Given the description of an element on the screen output the (x, y) to click on. 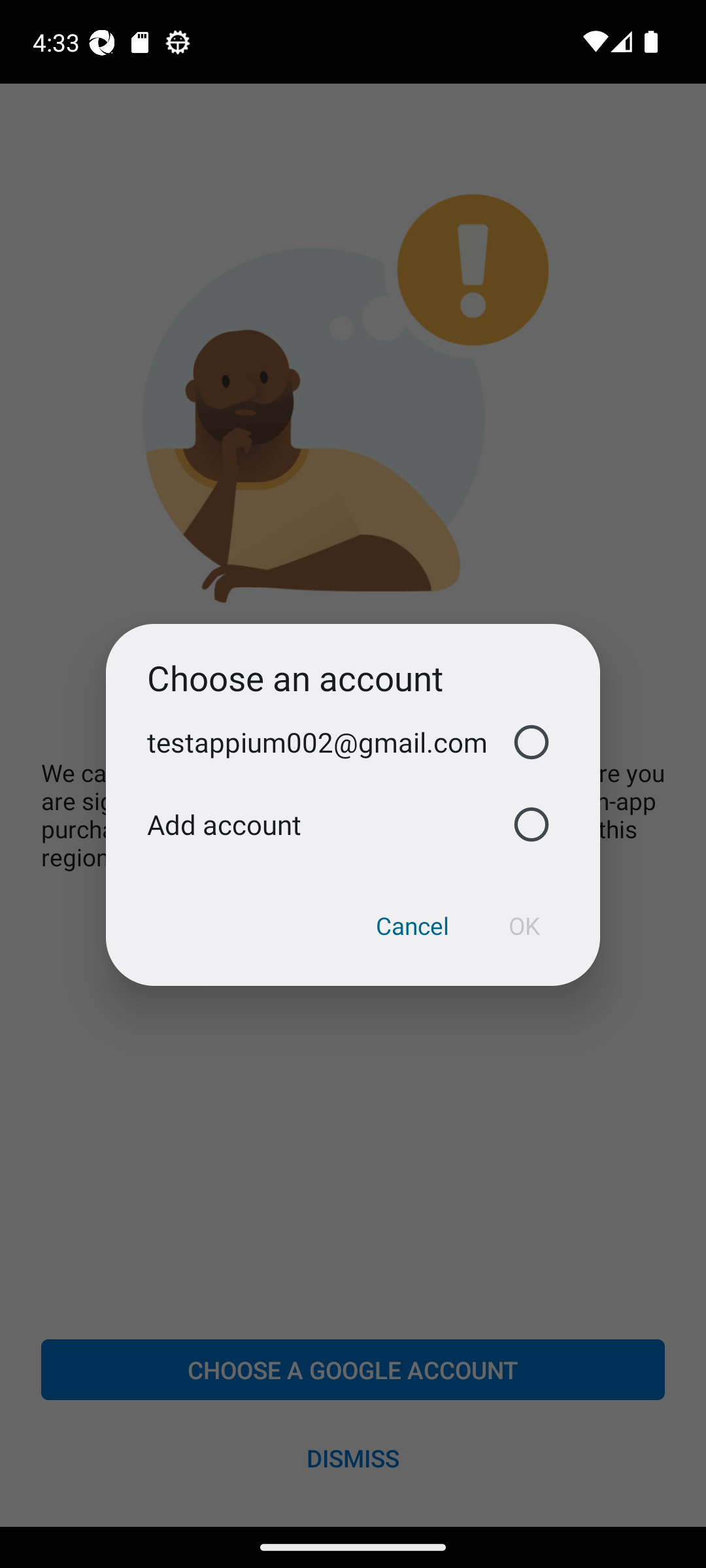
testappium002@gmail.com (352, 742)
Add account (352, 824)
Cancel (412, 925)
OK (523, 925)
